Given the description of an element on the screen output the (x, y) to click on. 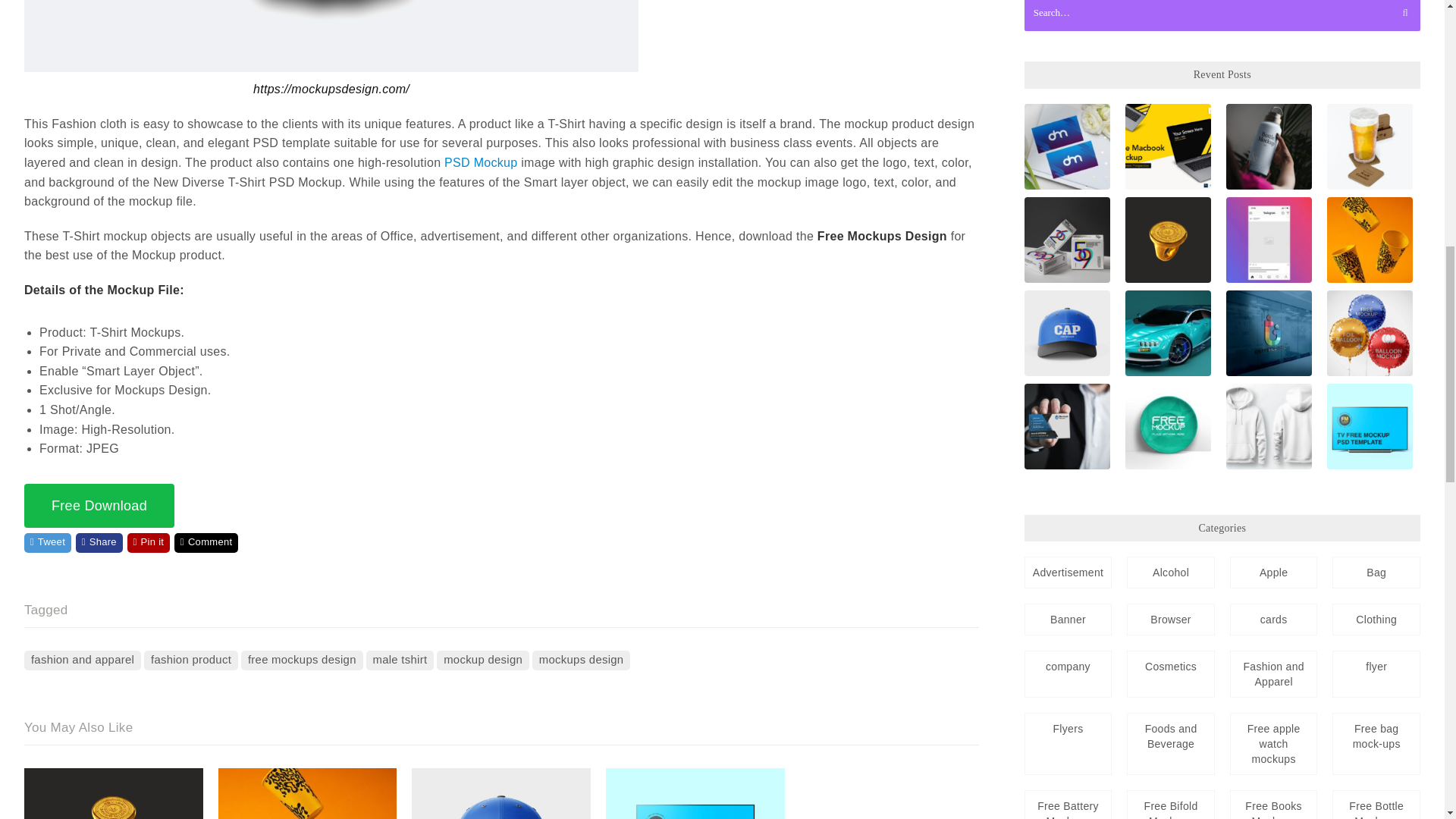
Free Golden Ring PSD Mockup (113, 793)
Share on Pinterest (149, 542)
Free Mockups Design (881, 236)
fashion and apparel (82, 660)
fashion product (191, 660)
Free Download (99, 505)
PSD Mockup (480, 162)
Share on Twitter (47, 542)
Tweet (47, 542)
Free Falling Paper Cup PSD Mockup (307, 793)
Comment (206, 542)
Share (98, 542)
Pin it (149, 542)
free mockups design (301, 660)
Share on Facebook (98, 542)
